Given the description of an element on the screen output the (x, y) to click on. 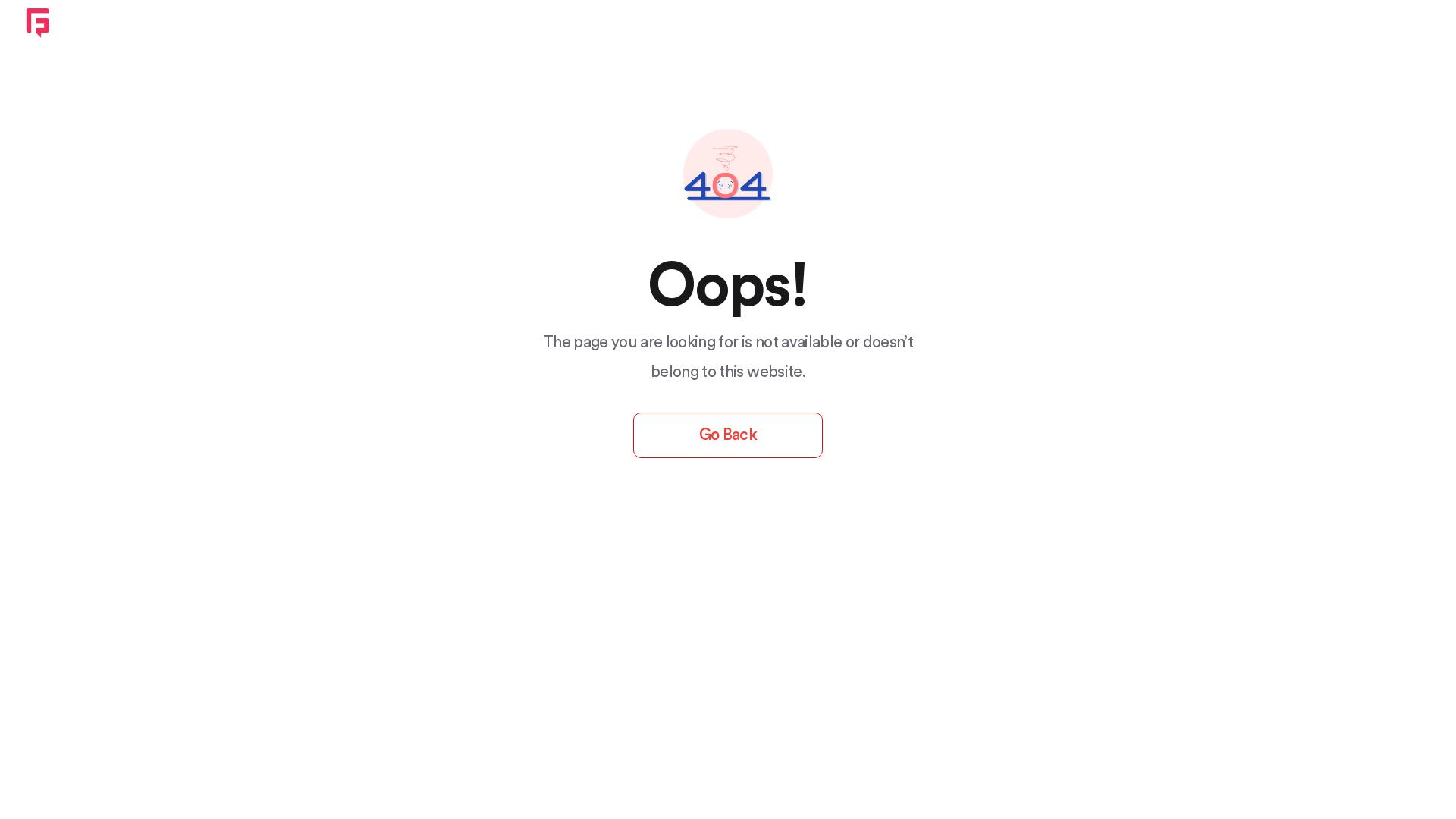
Go Back Element type: text (727, 435)
